Given the description of an element on the screen output the (x, y) to click on. 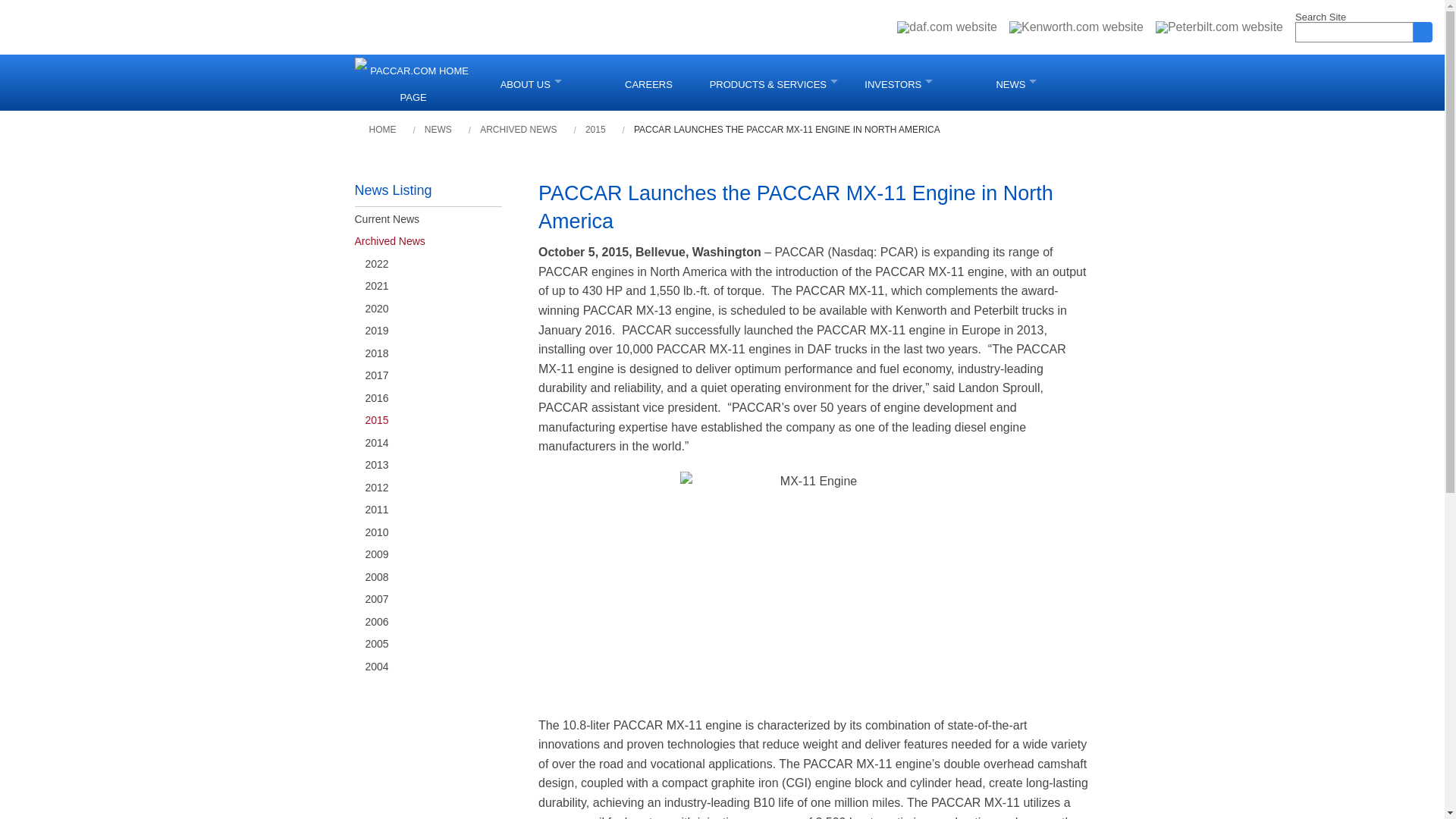
INVESTORS (899, 82)
ABOUT US (530, 82)
CAREERS (648, 82)
